Given the description of an element on the screen output the (x, y) to click on. 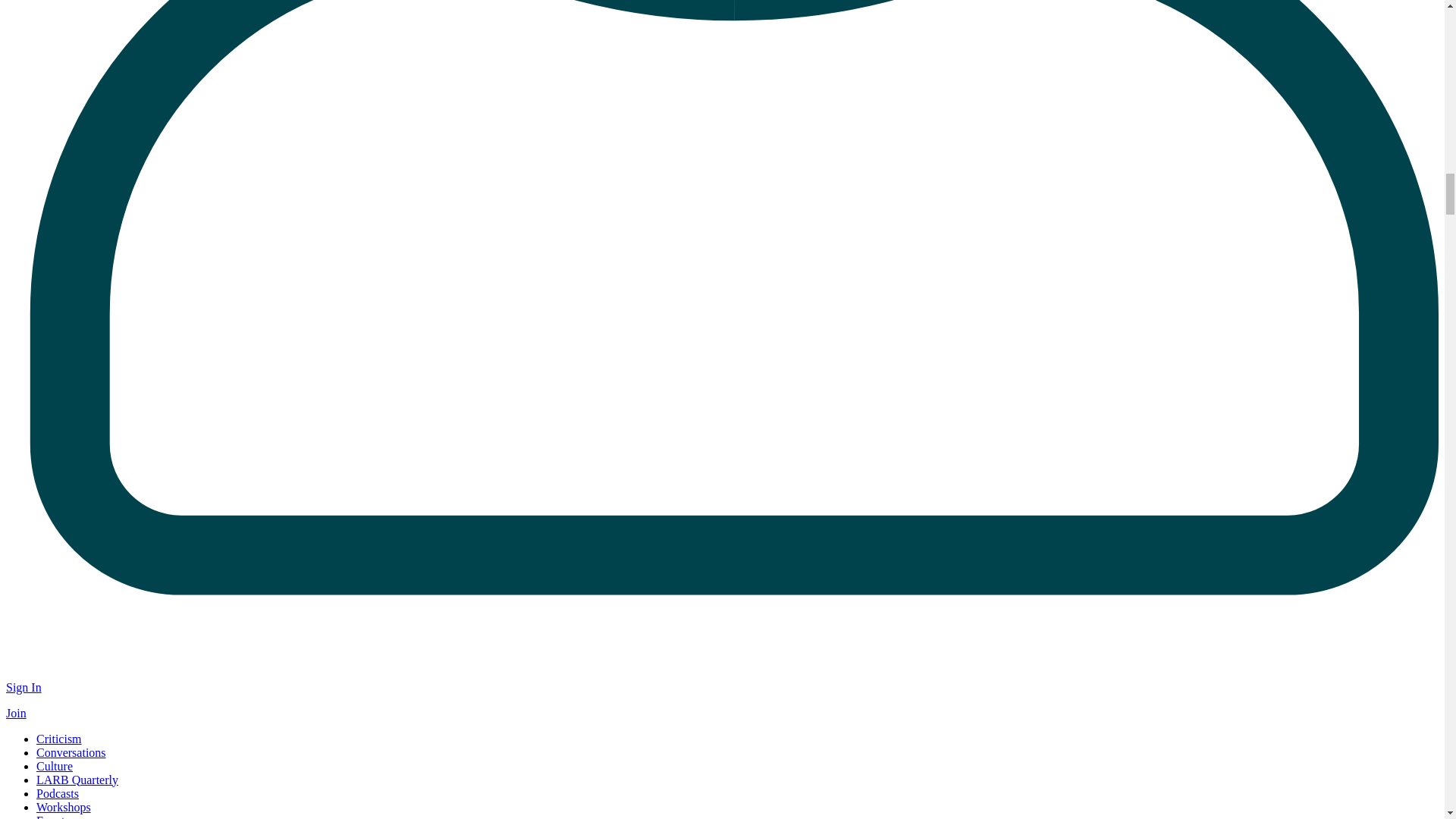
LARB Quarterly (76, 779)
Culture (54, 766)
Workshops (63, 807)
Conversations (71, 752)
Criticism (58, 738)
Events (52, 816)
Podcasts (57, 793)
Sign In (23, 686)
